Given the description of an element on the screen output the (x, y) to click on. 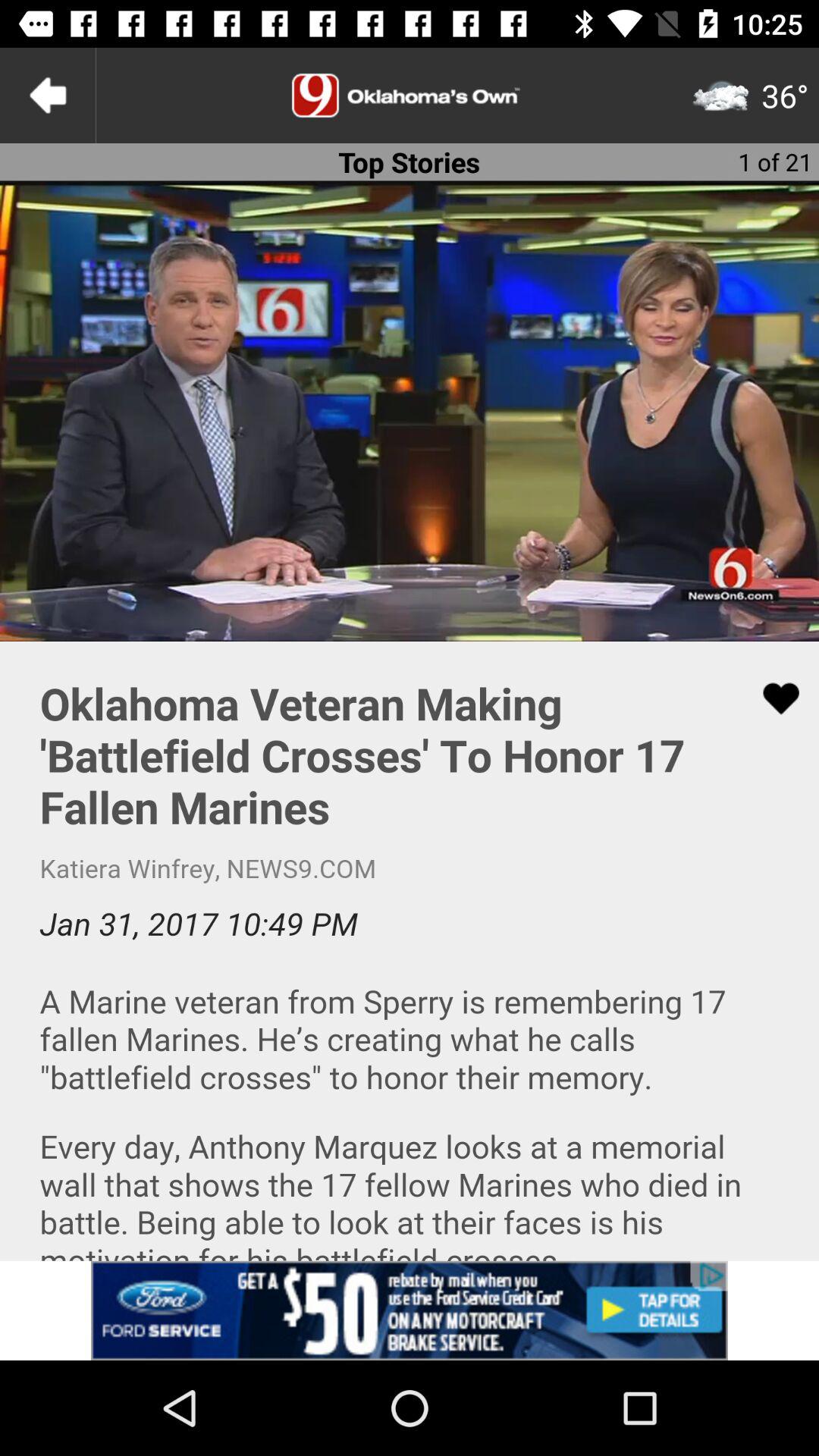
oklahoma s own (409, 95)
